Given the description of an element on the screen output the (x, y) to click on. 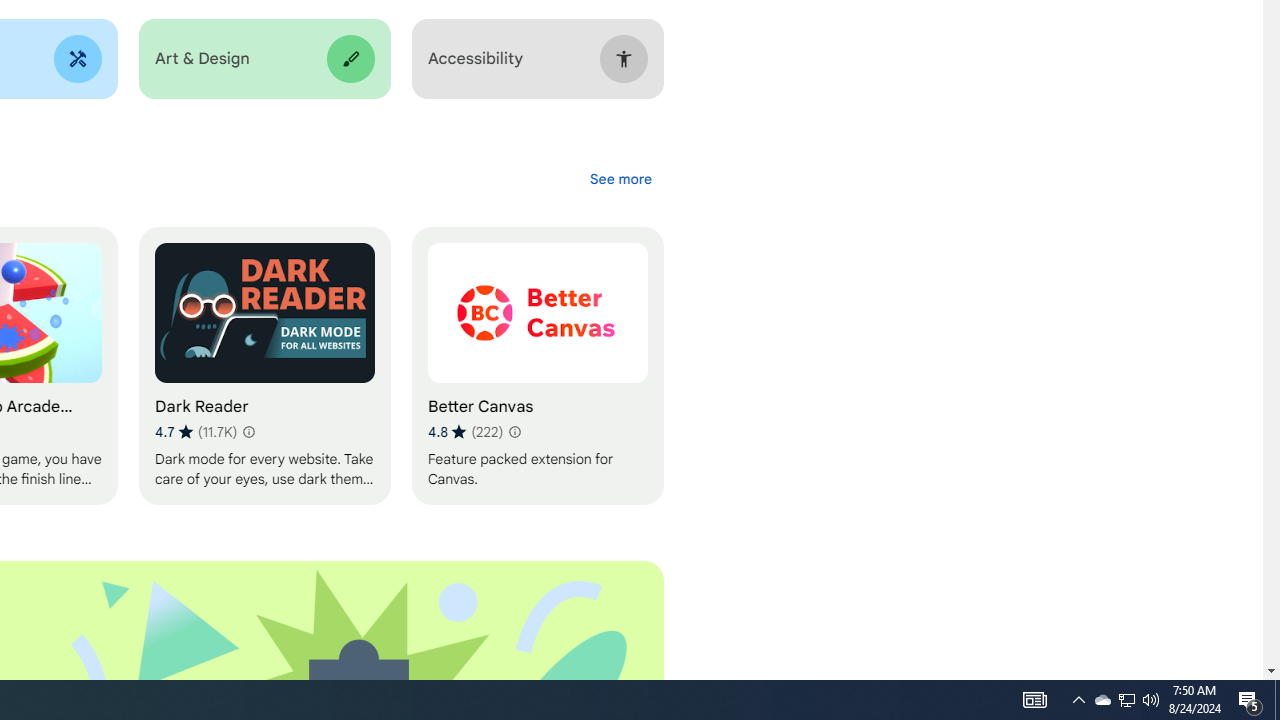
Dark Reader (264, 366)
Learn more about results and reviews "Dark Reader" (247, 431)
Accessibility (537, 59)
Better Canvas (537, 366)
Learn more about results and reviews "Better Canvas" (513, 431)
Art & Design (264, 59)
Average rating 4.7 out of 5 stars. 11.7K ratings. (195, 431)
See more personalized recommendations (620, 178)
Average rating 4.8 out of 5 stars. 222 ratings. (465, 431)
